Given the description of an element on the screen output the (x, y) to click on. 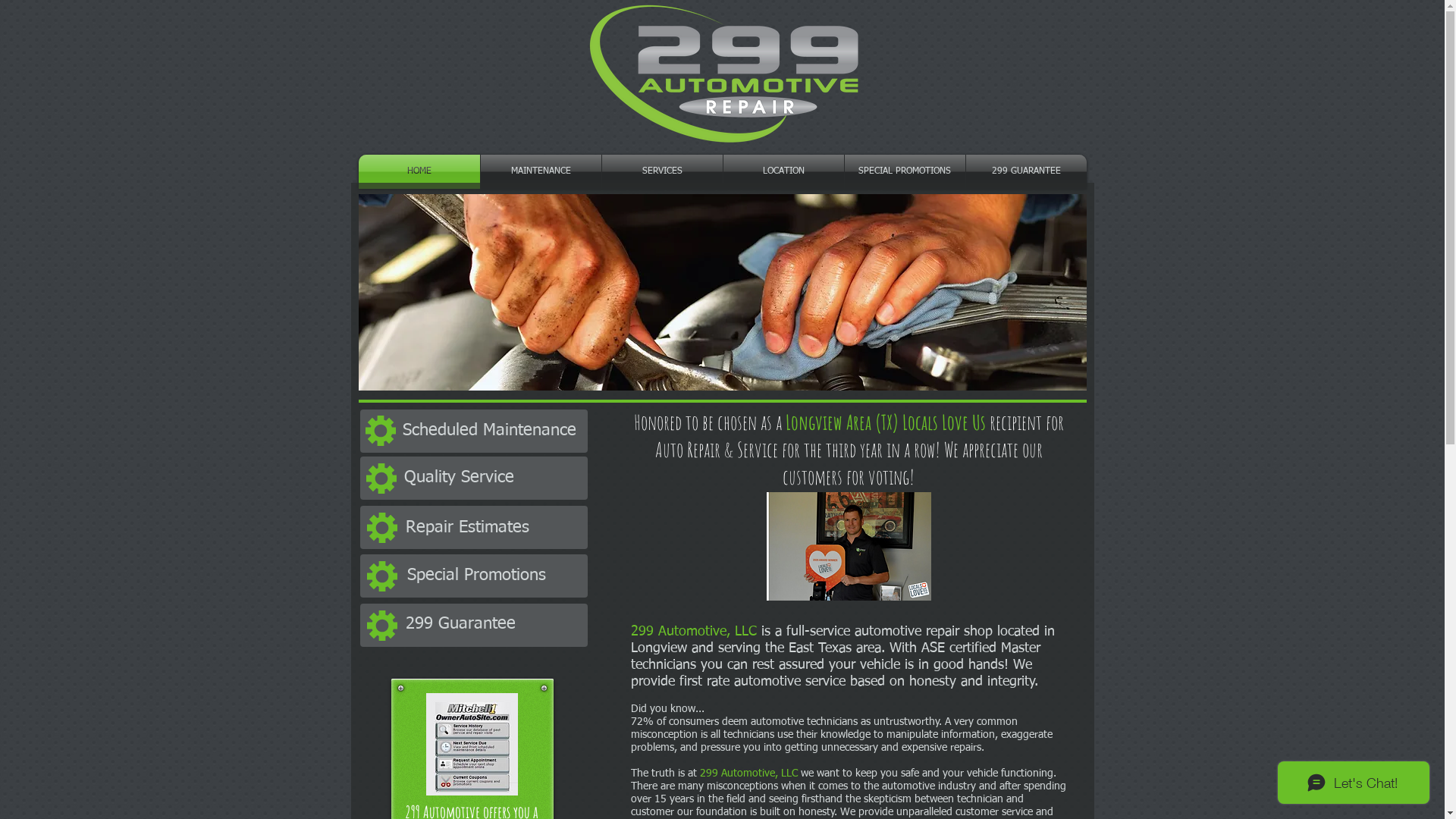
HOME Element type: text (418, 171)
TWIPLA (Visitor Analytics) Element type: hover (728, 307)
Quality Service Element type: text (490, 477)
Special Promotions Element type: text (493, 575)
SPECIAL PROMOTIONS Element type: text (904, 171)
MAINTENANCE Element type: text (540, 171)
LOCATION Element type: text (783, 171)
SERVICES Element type: text (662, 171)
Scheduled Maintenance Element type: text (488, 430)
Repair Estimates Element type: text (491, 528)
299 Guarantee Element type: text (491, 624)
299 GUARANTEE Element type: text (1026, 171)
